Given the description of an element on the screen output the (x, y) to click on. 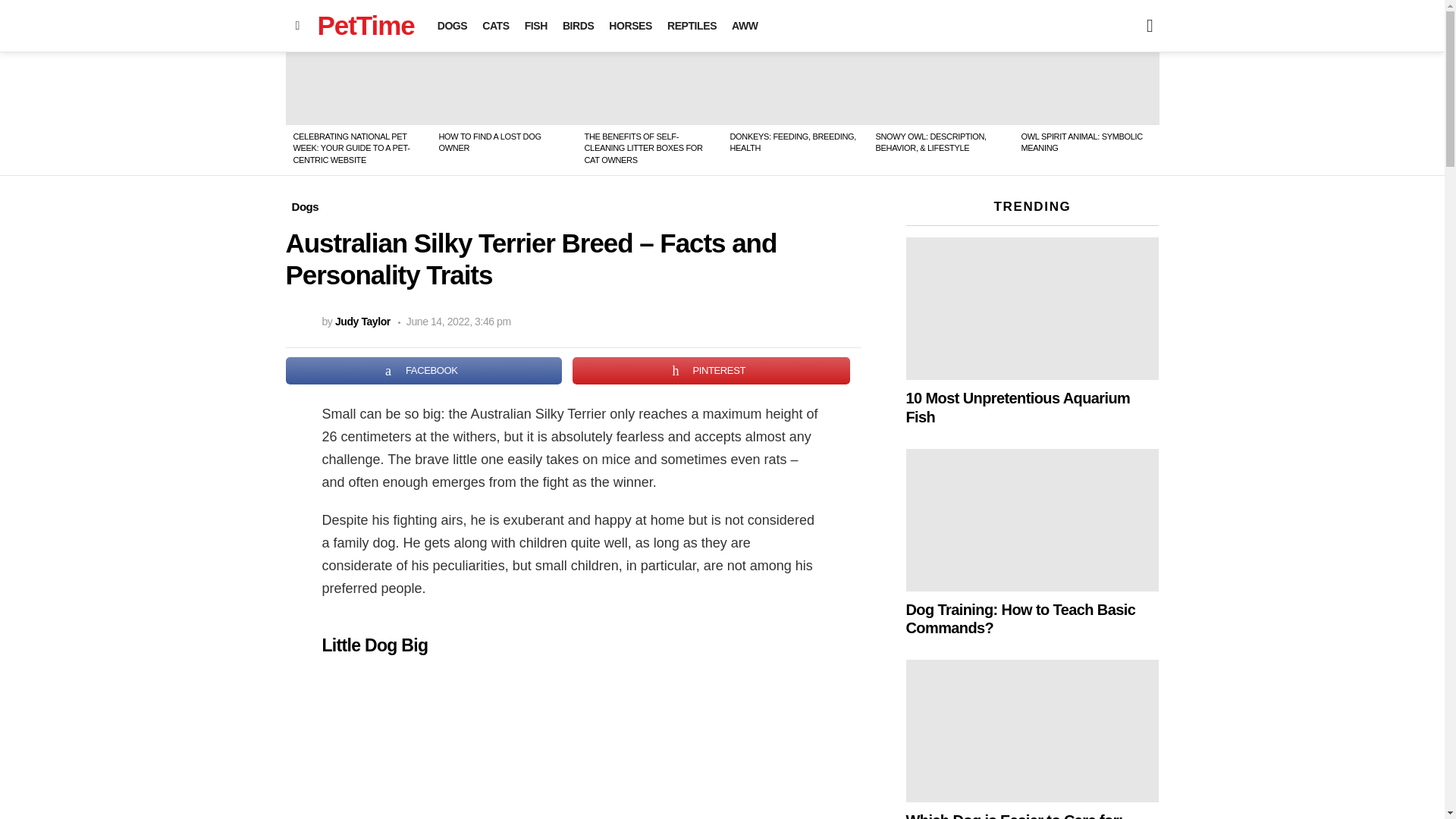
THE BENEFITS OF SELF-CLEANING LITTER BOXES FOR CAT OWNERS (642, 147)
CATS (495, 25)
AWW (744, 25)
FACEBOOK (422, 370)
DOGS (452, 25)
REPTILES (691, 25)
OWL SPIRIT ANIMAL: SYMBOLIC MEANING (1080, 141)
Owl Spirit Animal: Symbolic Meaning (1085, 88)
DONKEYS: FEEDING, BREEDING, HEALTH (792, 141)
Posts by Judy Taylor (362, 321)
BIRDS (577, 25)
The Benefits of Self-Cleaning Litter Boxes for Cat Owners (649, 88)
FISH (535, 25)
PetTime (365, 25)
